Given the description of an element on the screen output the (x, y) to click on. 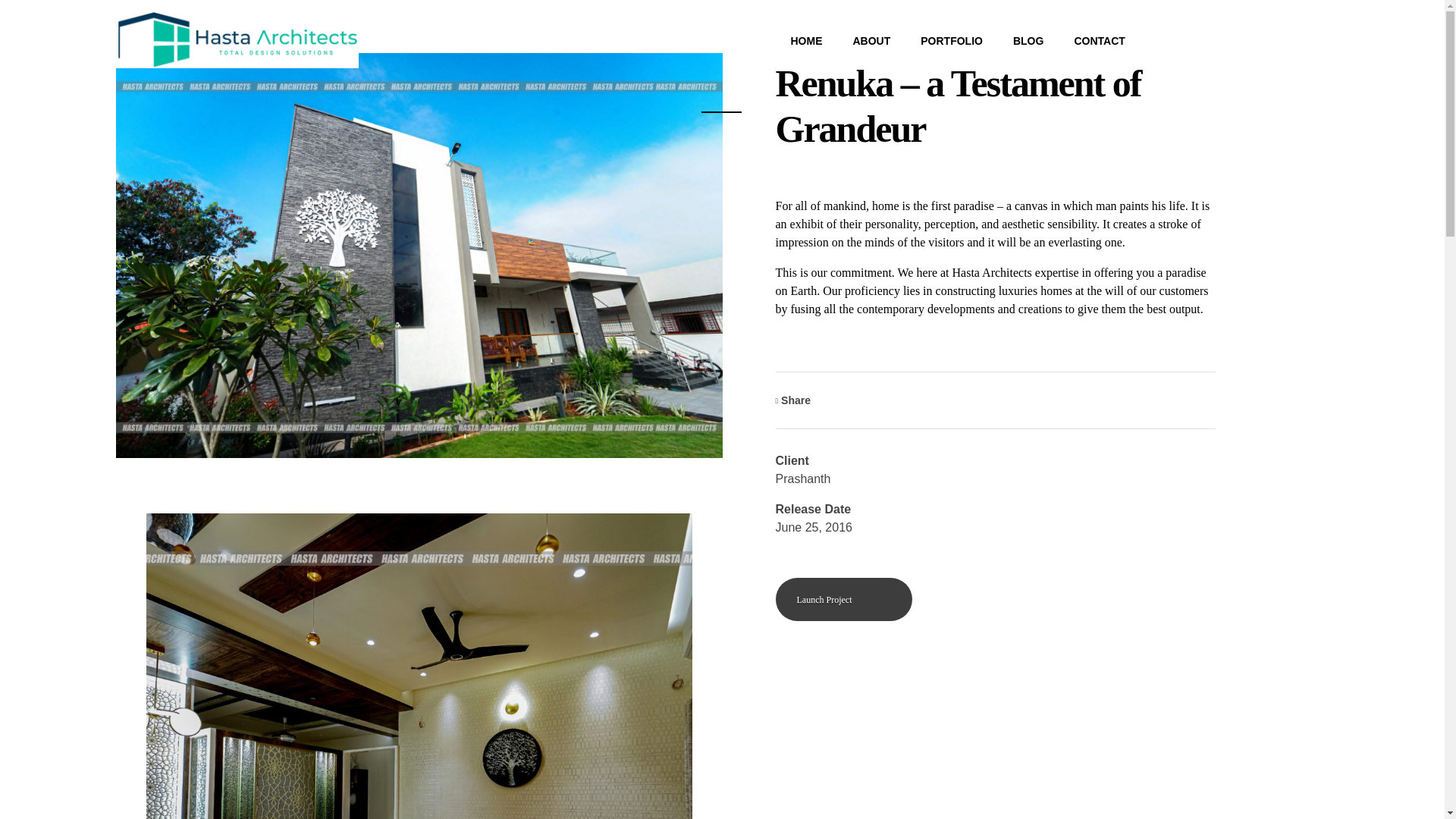
CONTACT (1083, 41)
PORTFOLIO (935, 41)
ABOUT (855, 41)
Hasta Architects (187, 76)
Hasta Architects (187, 76)
Hasta Architects (236, 39)
HOME (791, 41)
BLOG (1012, 41)
Launch Project (843, 599)
